Given the description of an element on the screen output the (x, y) to click on. 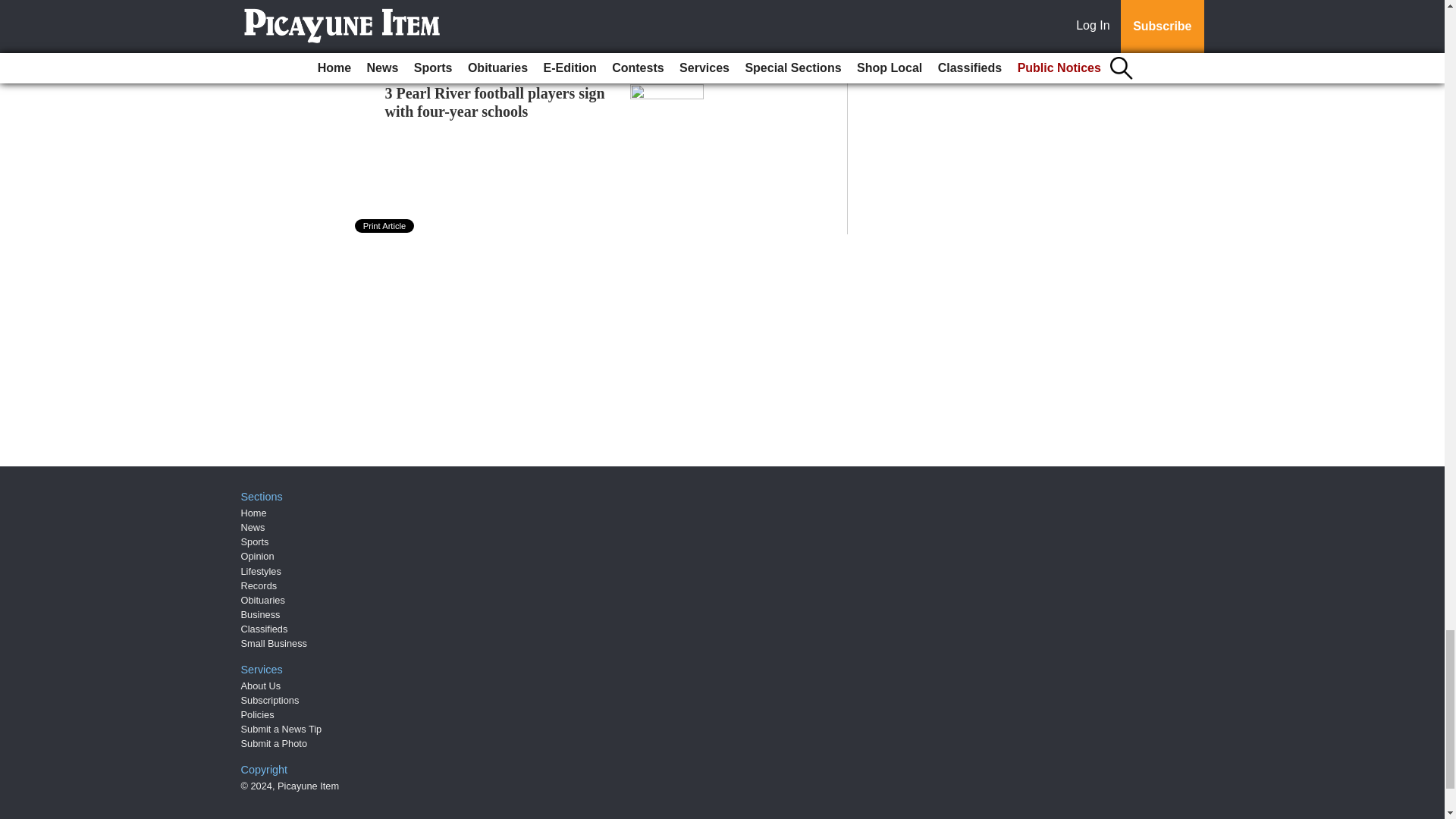
3 Pearl River football players sign with four-year schools (495, 102)
Print Article (384, 225)
3 Pearl River football players sign with four-year schools (495, 102)
